Given the description of an element on the screen output the (x, y) to click on. 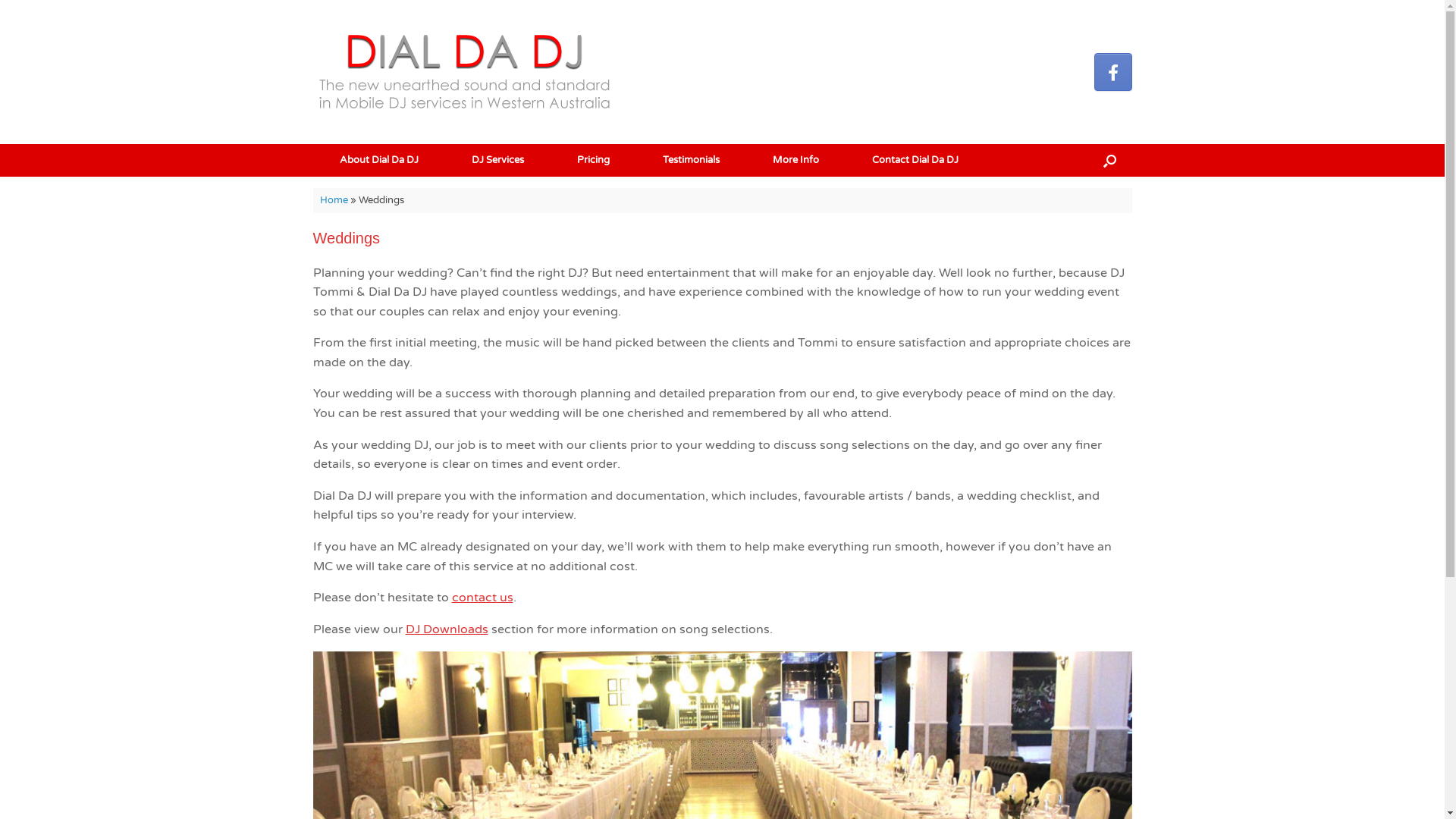
About Dial Da DJ Element type: text (378, 160)
Dial Da DJ Element type: hover (463, 71)
contact us Element type: text (482, 597)
DJ Downloads Element type: text (445, 629)
Pricing Element type: text (593, 160)
Contact Dial Da DJ Element type: text (914, 160)
Dial Da DJ Facebook Element type: hover (1112, 72)
More Info Element type: text (795, 160)
Home Element type: text (334, 200)
Testimonials Element type: text (690, 160)
DJ Services Element type: text (496, 160)
